Given the description of an element on the screen output the (x, y) to click on. 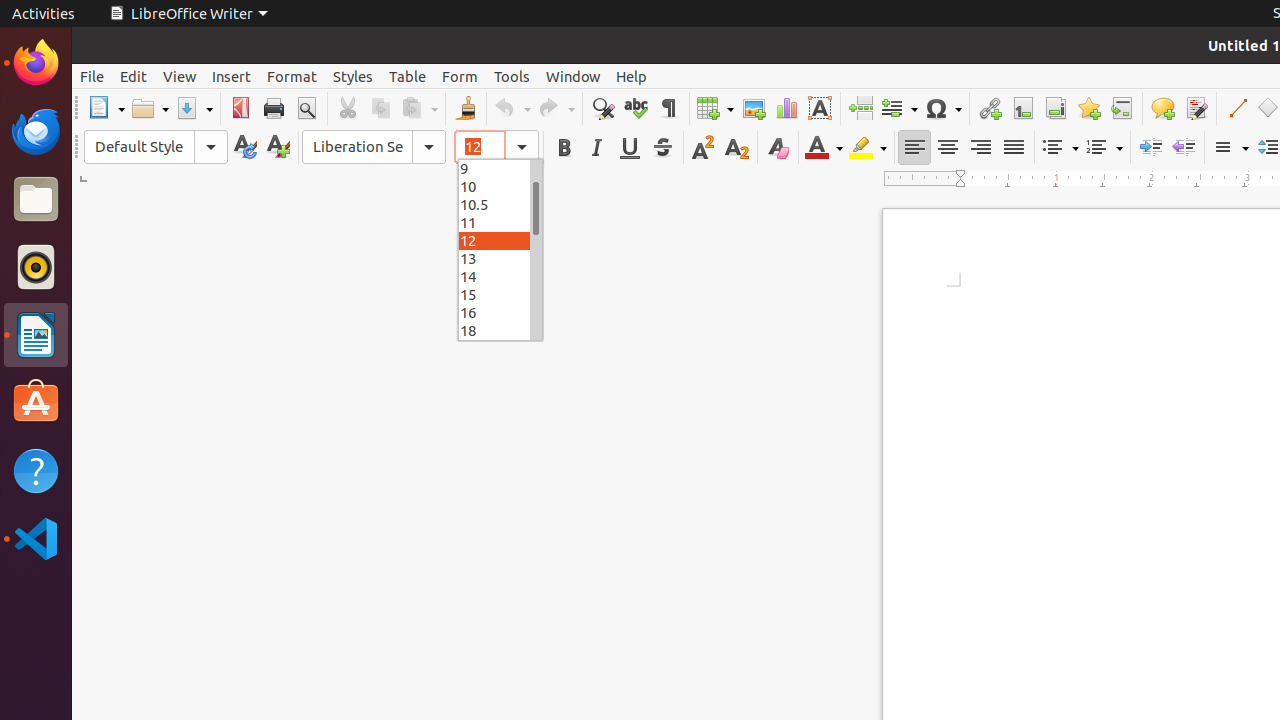
9 Element type: list-item (500, 168)
Footnote Element type: push-button (1022, 108)
Tools Element type: menu (512, 76)
Cut Element type: push-button (347, 108)
16 Element type: list-item (500, 312)
